Given the description of an element on the screen output the (x, y) to click on. 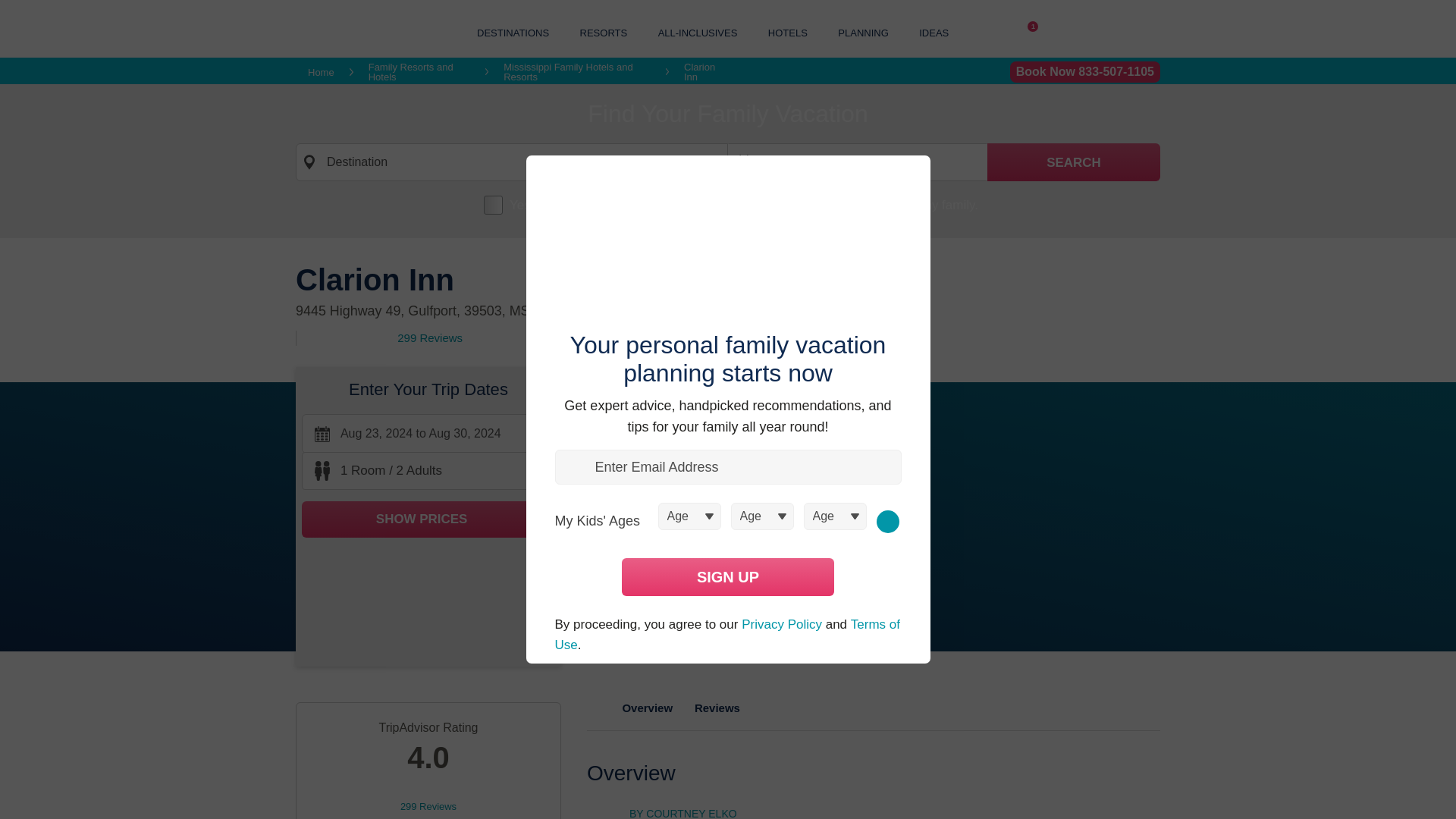
Search (1073, 161)
DESTINATIONS (512, 32)
299 Reviews (430, 337)
Mississippi Family Hotels and Resorts (576, 71)
HOTELS (788, 32)
Search (1073, 161)
Search (1073, 161)
SHOW PRICES (427, 519)
PLANNING (863, 32)
